Given the description of an element on the screen output the (x, y) to click on. 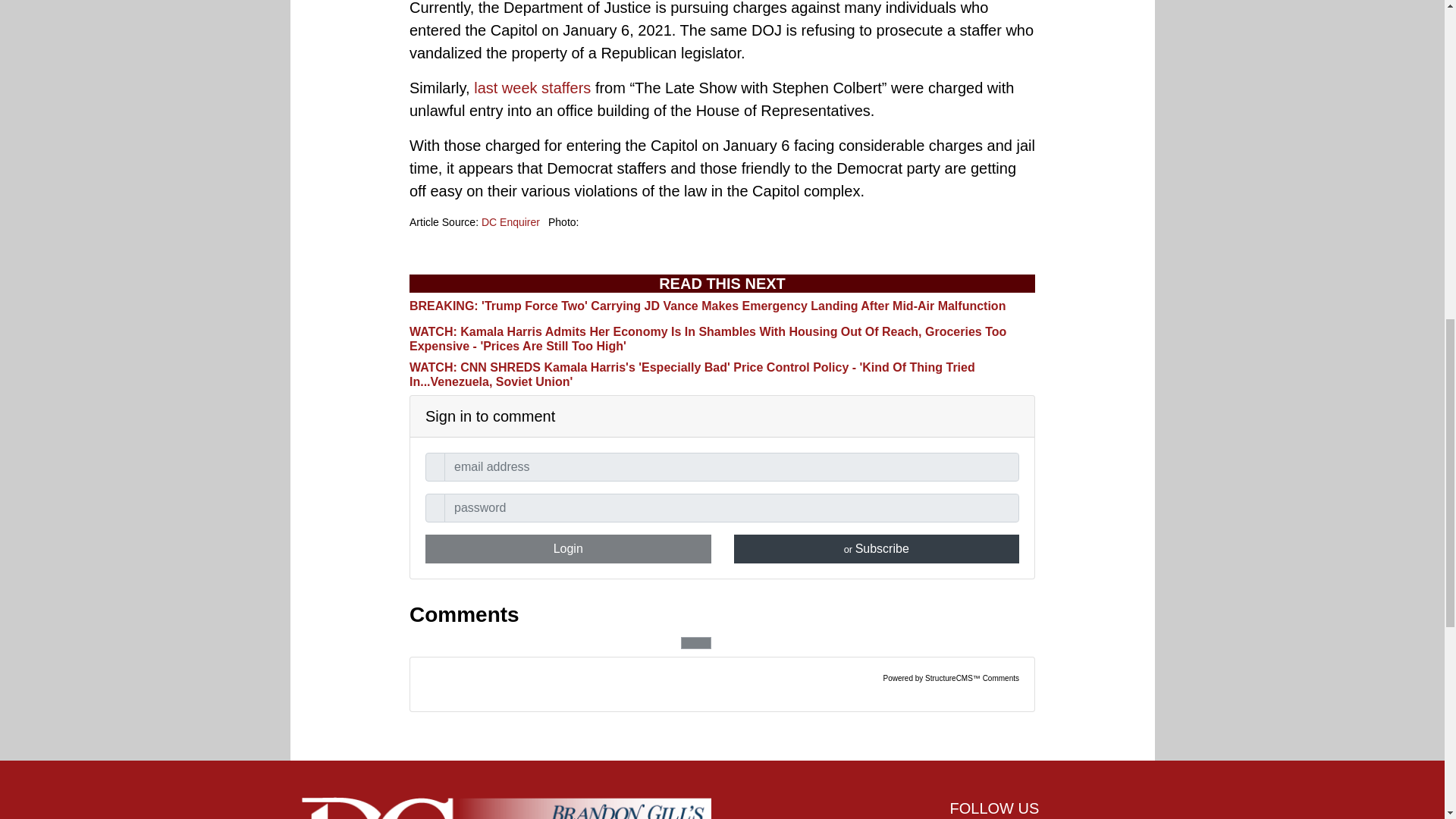
Toggle Order (696, 643)
or Subscribe (876, 548)
last week staffers (532, 87)
DC Enquirer (510, 222)
Login (568, 548)
